Given the description of an element on the screen output the (x, y) to click on. 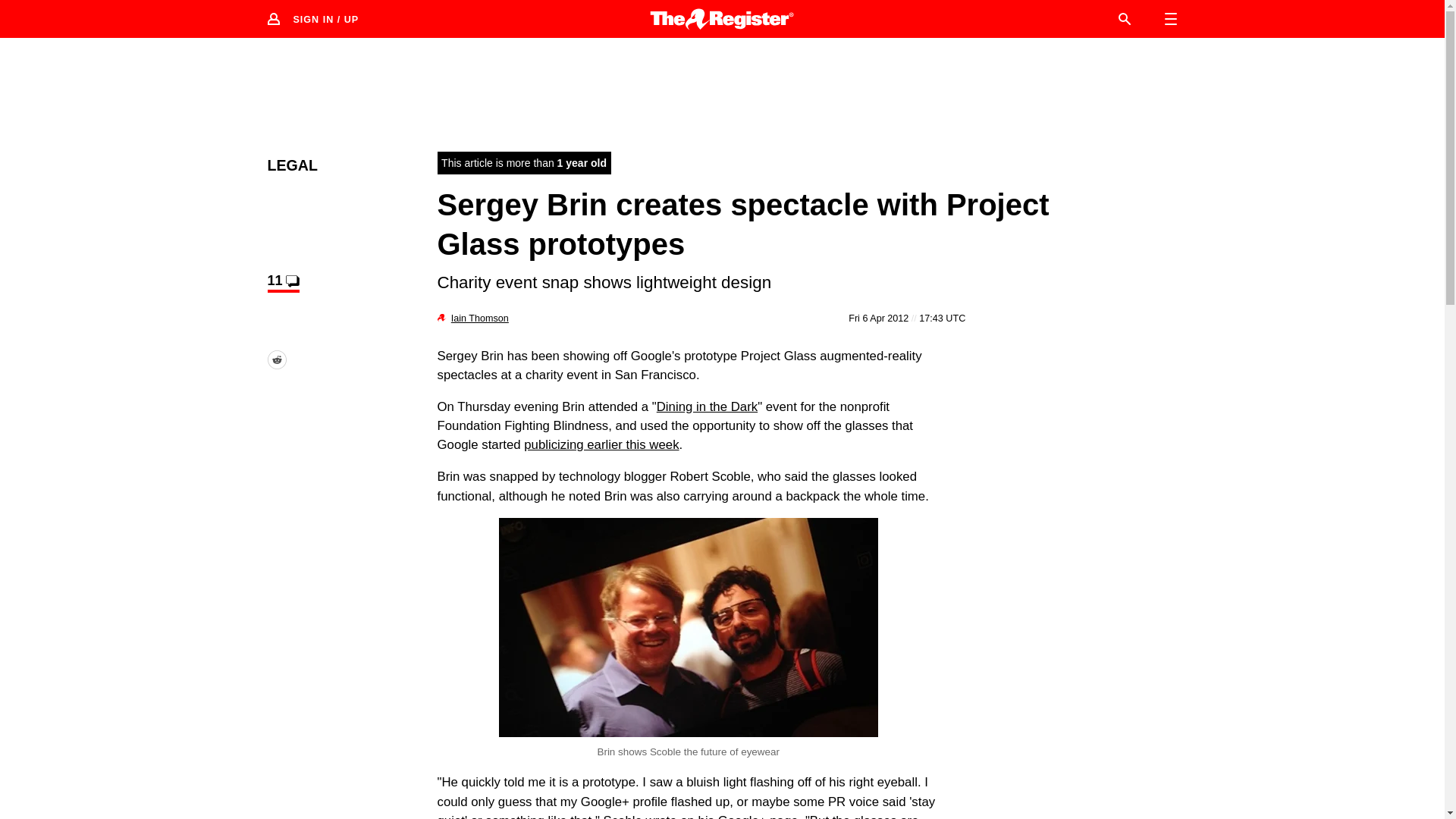
Sergey Brin Project Glass (688, 627)
View comments on this article (282, 282)
Read more by this author (479, 318)
